Given the description of an element on the screen output the (x, y) to click on. 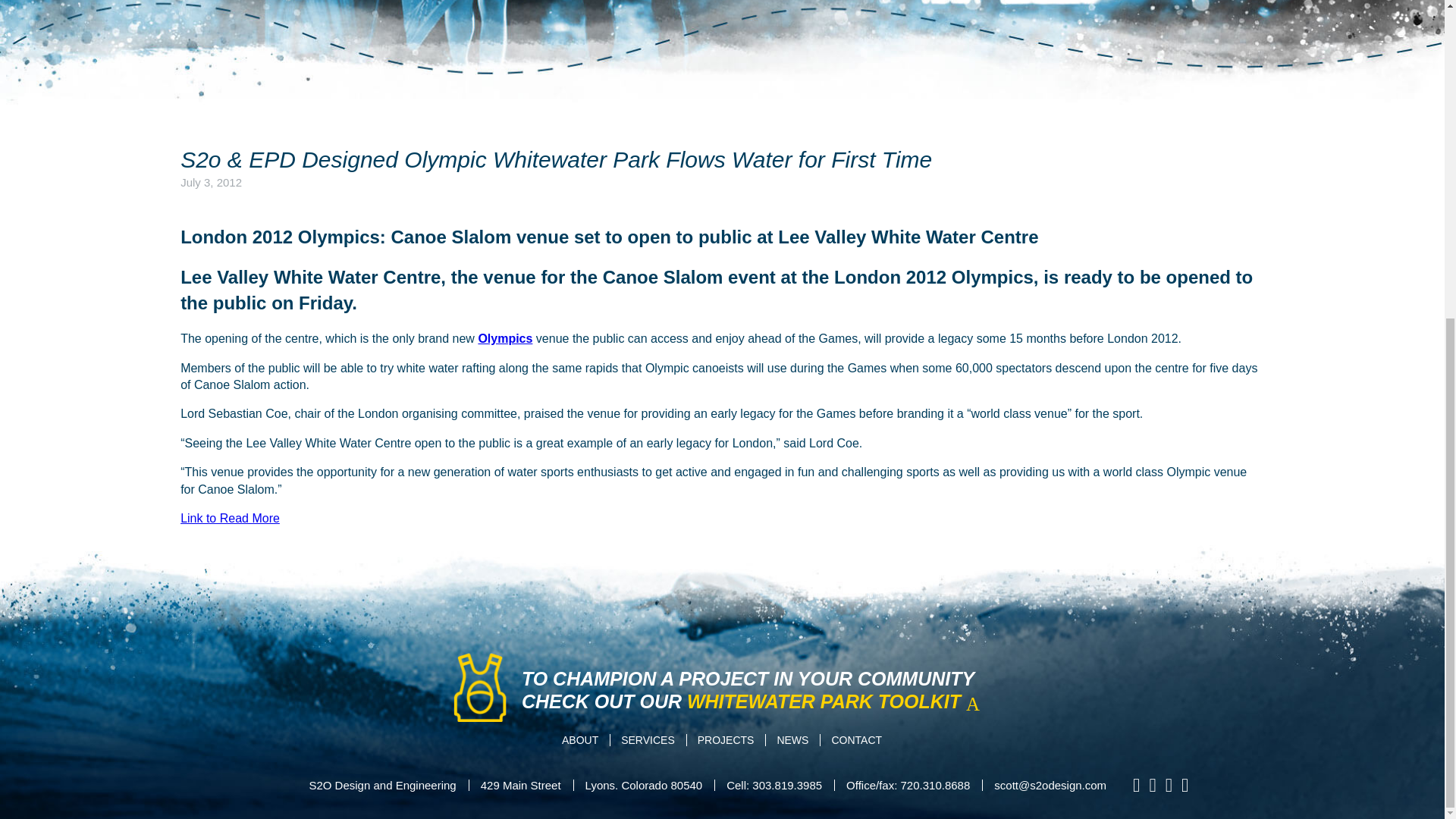
Olympics (504, 338)
NEWS (792, 739)
PROJECTS (726, 739)
ABOUT (580, 739)
WHITEWATER PARK TOOLKIT (839, 701)
Link to Read More (229, 517)
CONTACT (857, 739)
SERVICES (647, 739)
